Given the description of an element on the screen output the (x, y) to click on. 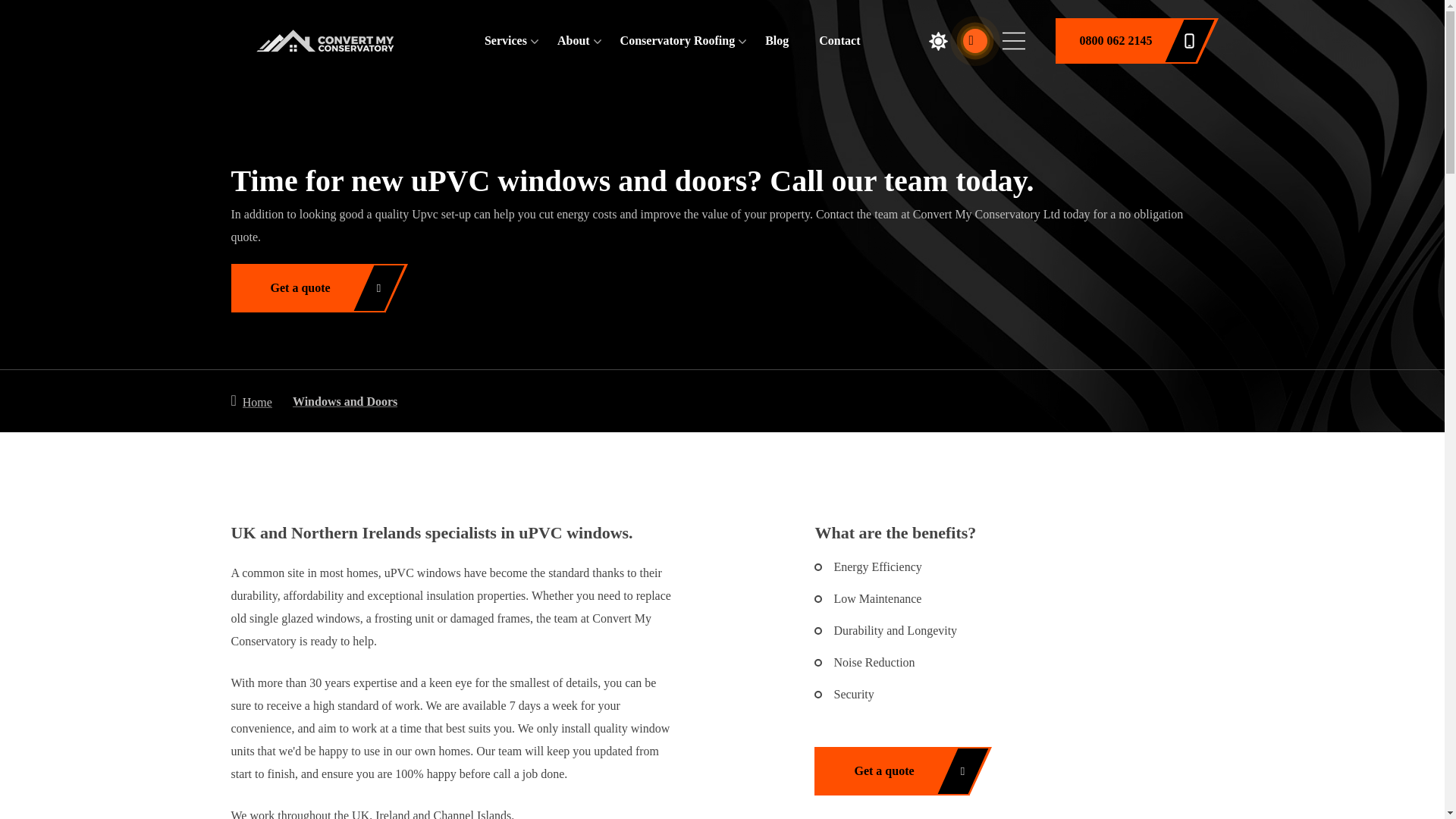
About (573, 40)
Conservatory Roofing (677, 40)
Services (505, 40)
Blog (777, 40)
Contact (839, 40)
0800 062 2145 (1125, 40)
